Given the description of an element on the screen output the (x, y) to click on. 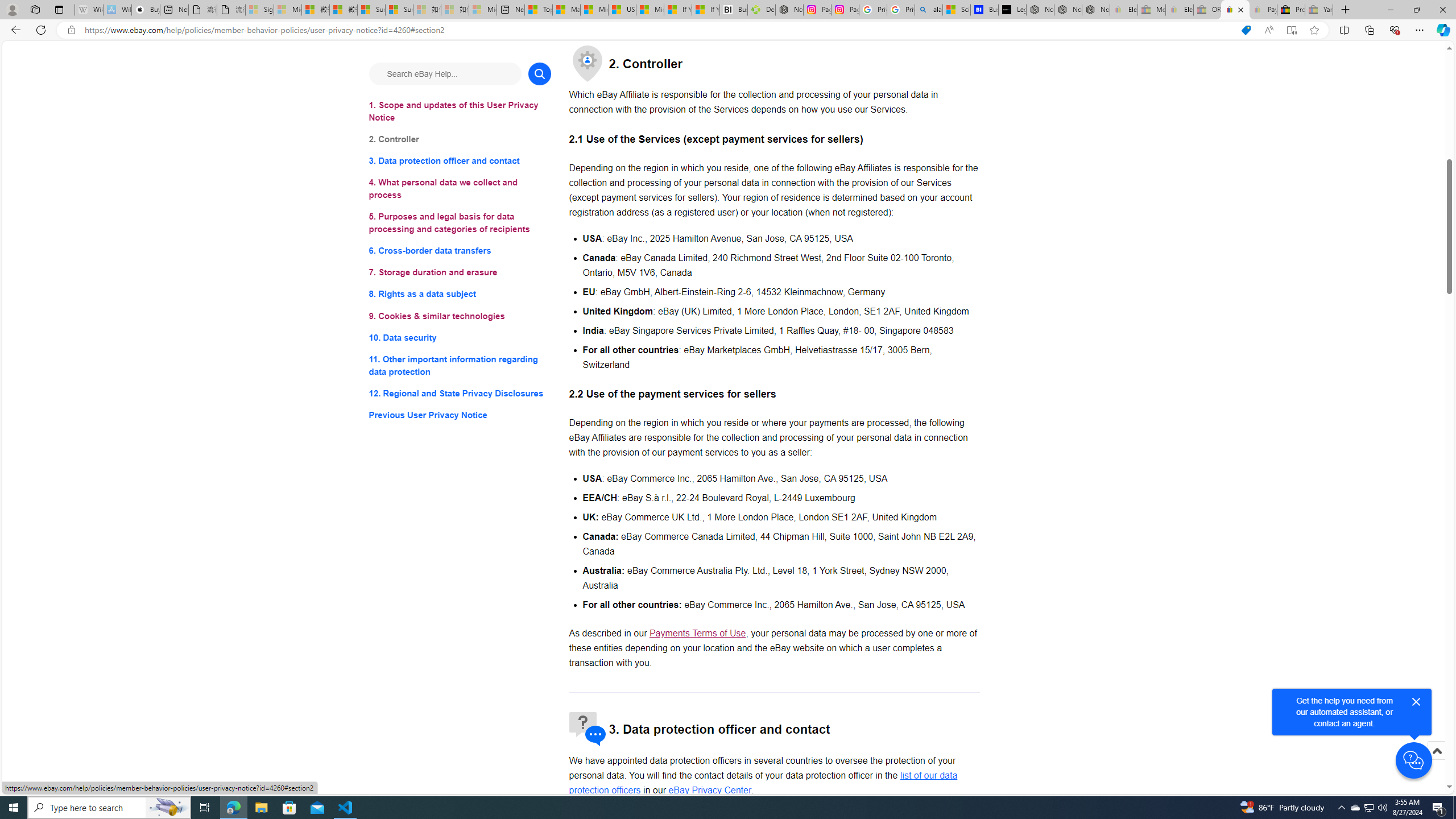
4. What personal data we collect and process (459, 189)
7. Storage duration and erasure (459, 272)
9. Cookies & similar technologies (459, 315)
Microsoft account | Account Checkup - Sleeping (483, 9)
